Given the description of an element on the screen output the (x, y) to click on. 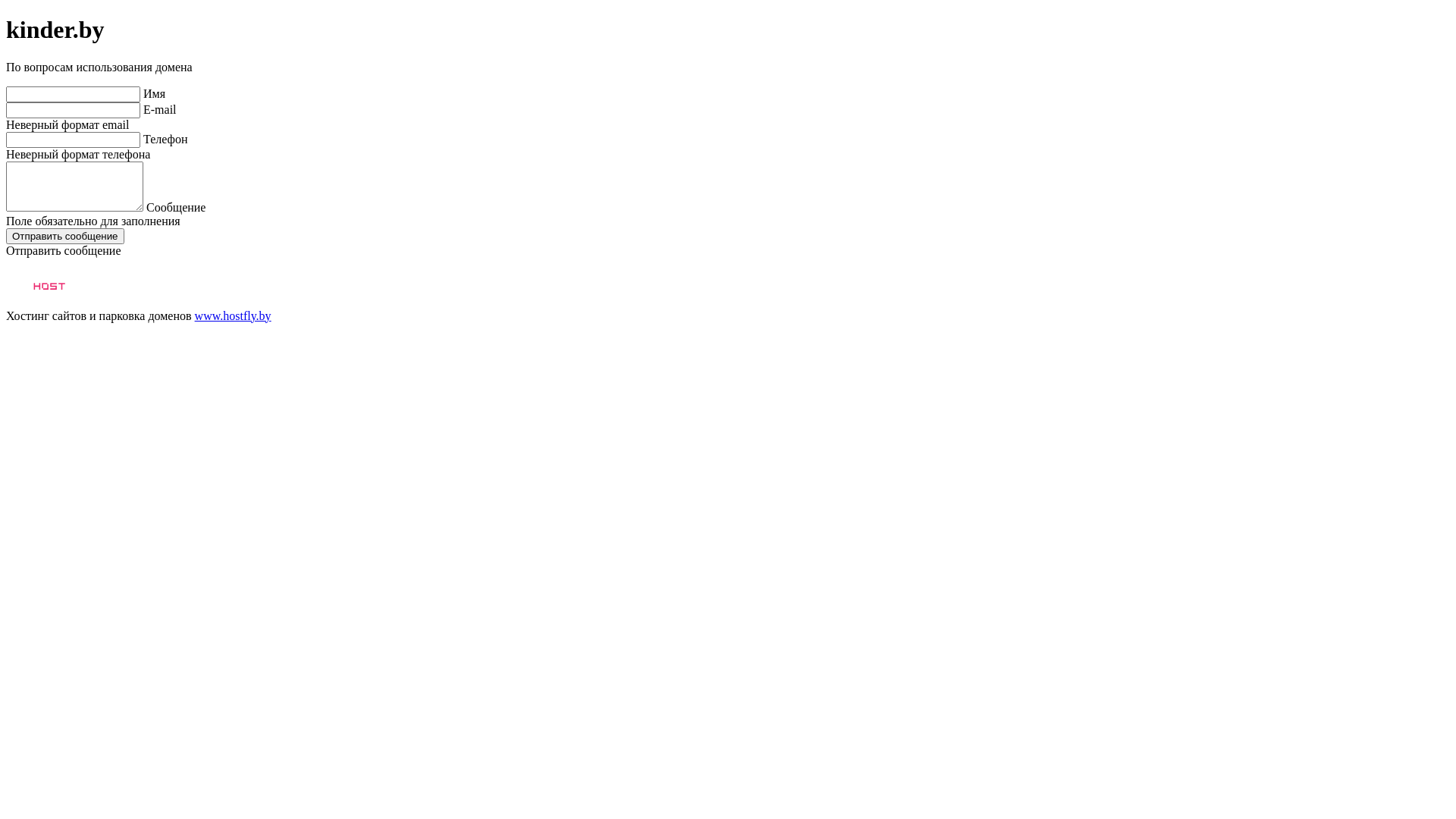
www.hostfly.by Element type: text (232, 315)
